Given the description of an element on the screen output the (x, y) to click on. 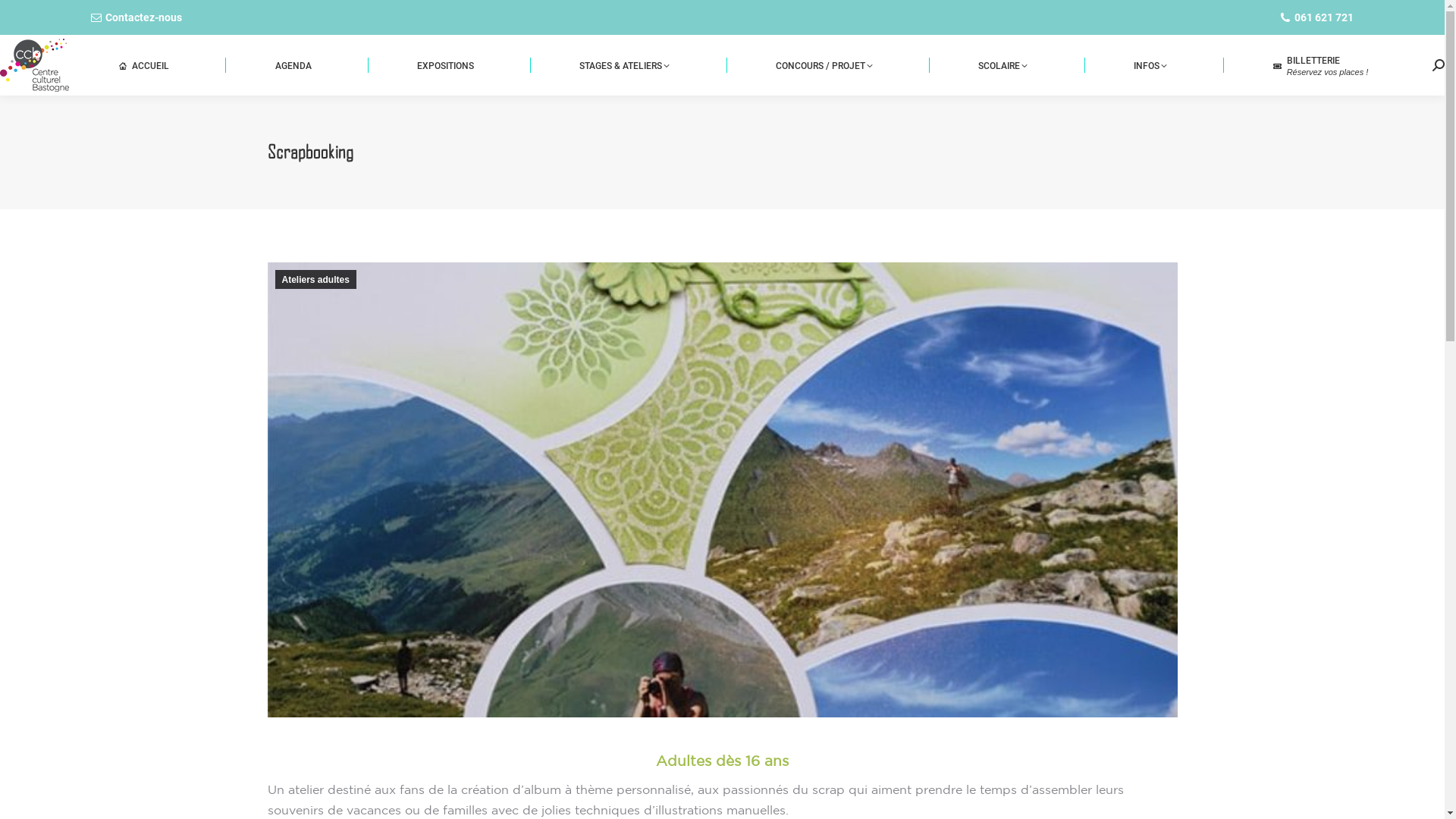
STAGES & ATELIERS Element type: text (624, 65)
INFOS Element type: text (1149, 65)
SCOLAIRE Element type: text (1002, 65)
Contactez-nous Element type: text (136, 17)
Scrap site Element type: hover (721, 489)
ACCUEIL Element type: text (143, 65)
AGENDA Element type: text (292, 65)
061 621 721 Element type: text (1316, 17)
CONCOURS / PROJET Element type: text (823, 65)
Go! Element type: text (23, 16)
Ateliers adultes Element type: text (314, 278)
EXPOSITIONS Element type: text (444, 65)
